Given the description of an element on the screen output the (x, y) to click on. 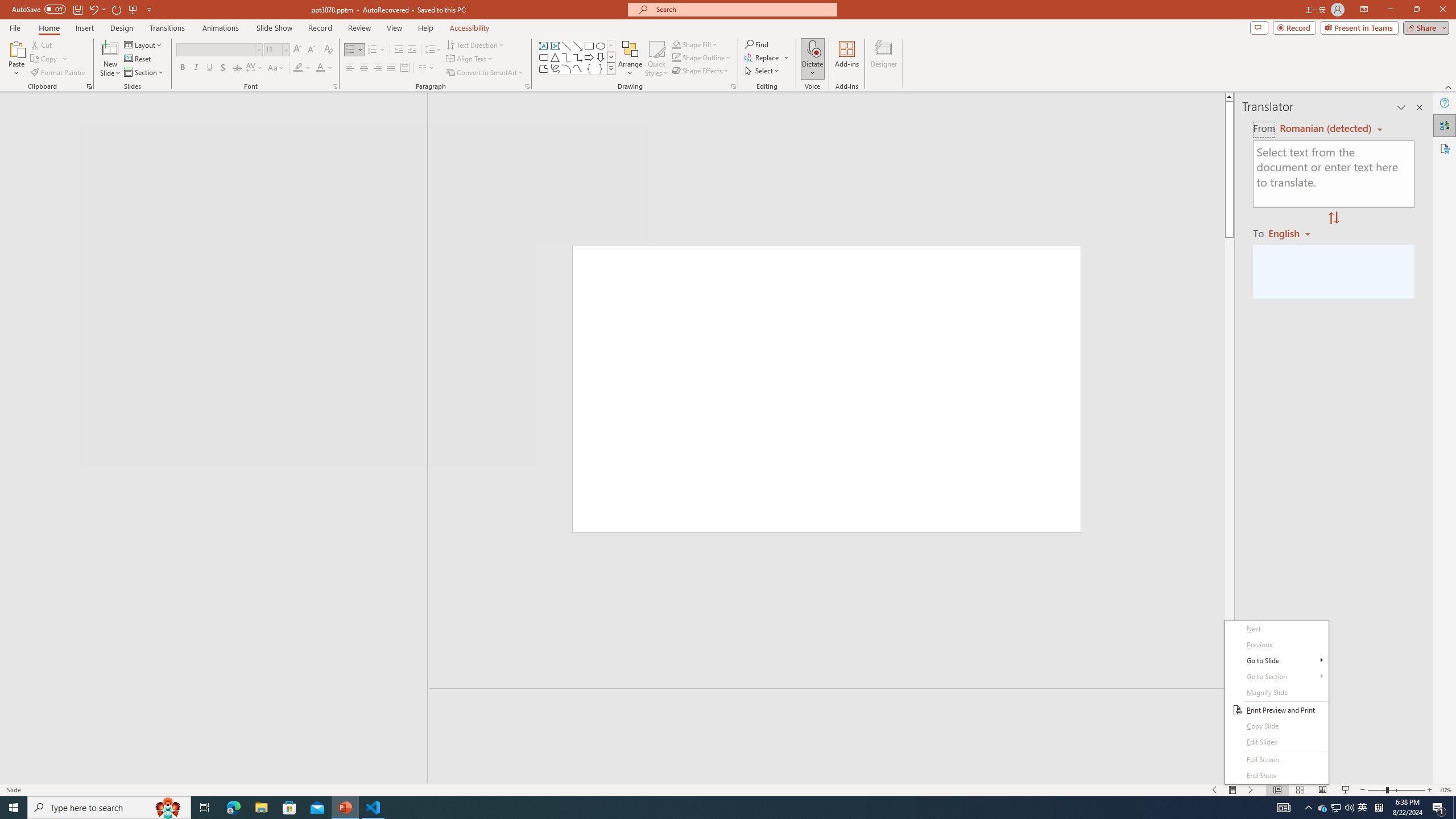
Running applications (700, 807)
Select (762, 69)
Next (1276, 628)
Font... (334, 85)
Context Menu (1276, 701)
Connector: Elbow Arrow (577, 57)
Go to Section (1276, 676)
Swap "from" and "to" languages. (1333, 218)
